Given the description of an element on the screen output the (x, y) to click on. 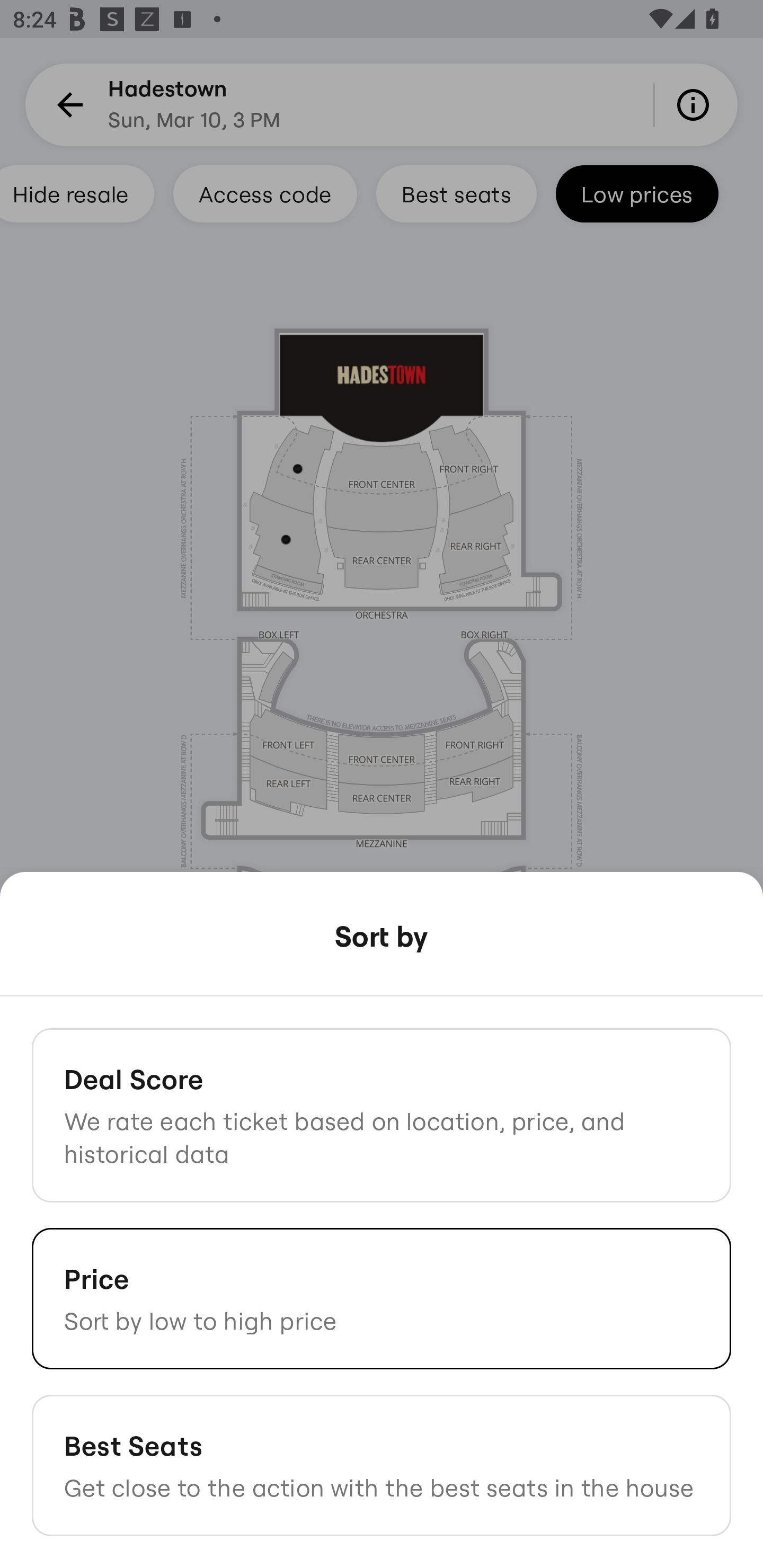
Price Sort by low to high price (381, 1297)
